Given the description of an element on the screen output the (x, y) to click on. 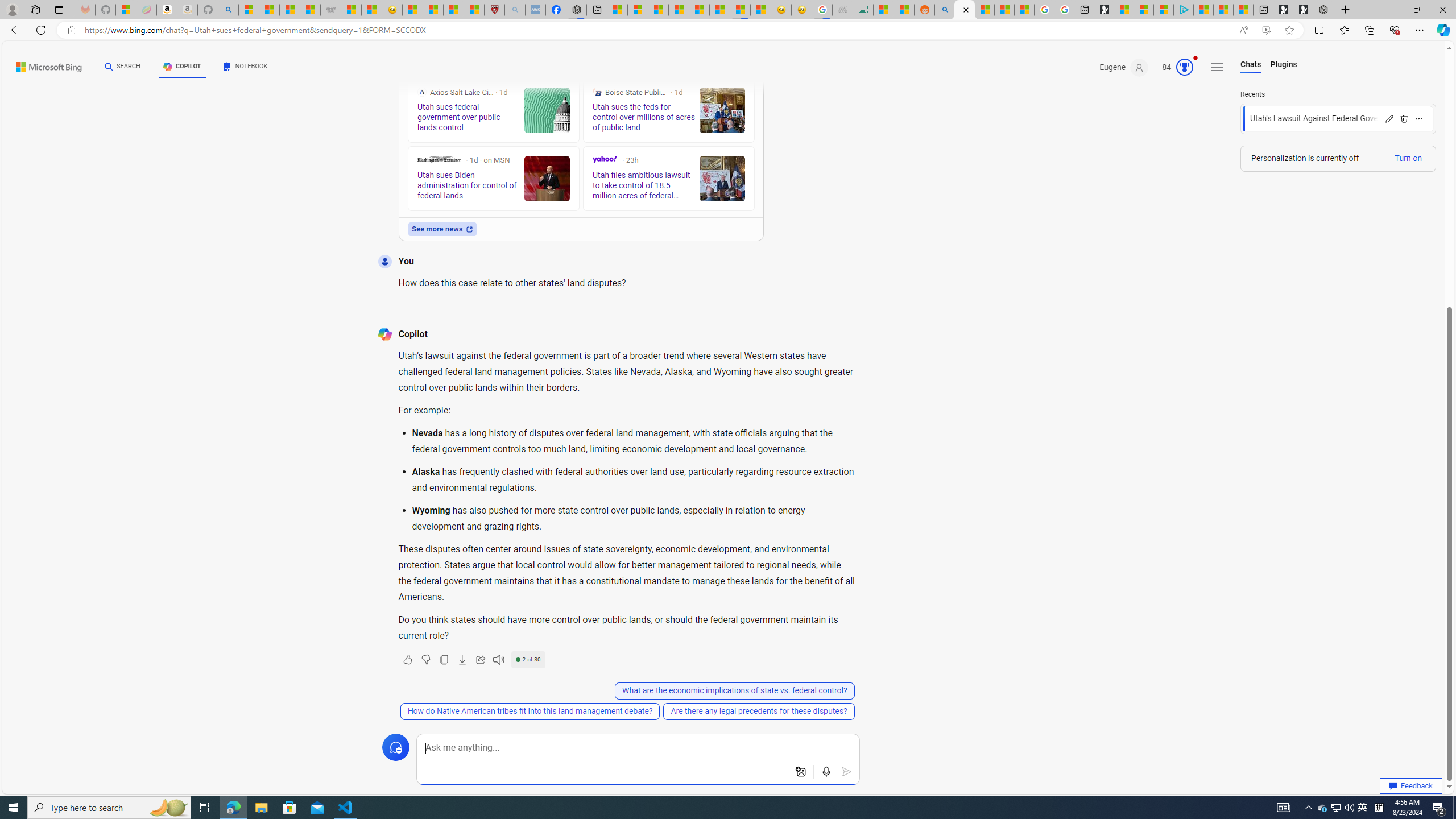
AutomationID: serp_medal_svg (1183, 67)
Microsoft Copilot in Bing (964, 9)
